Given the description of an element on the screen output the (x, y) to click on. 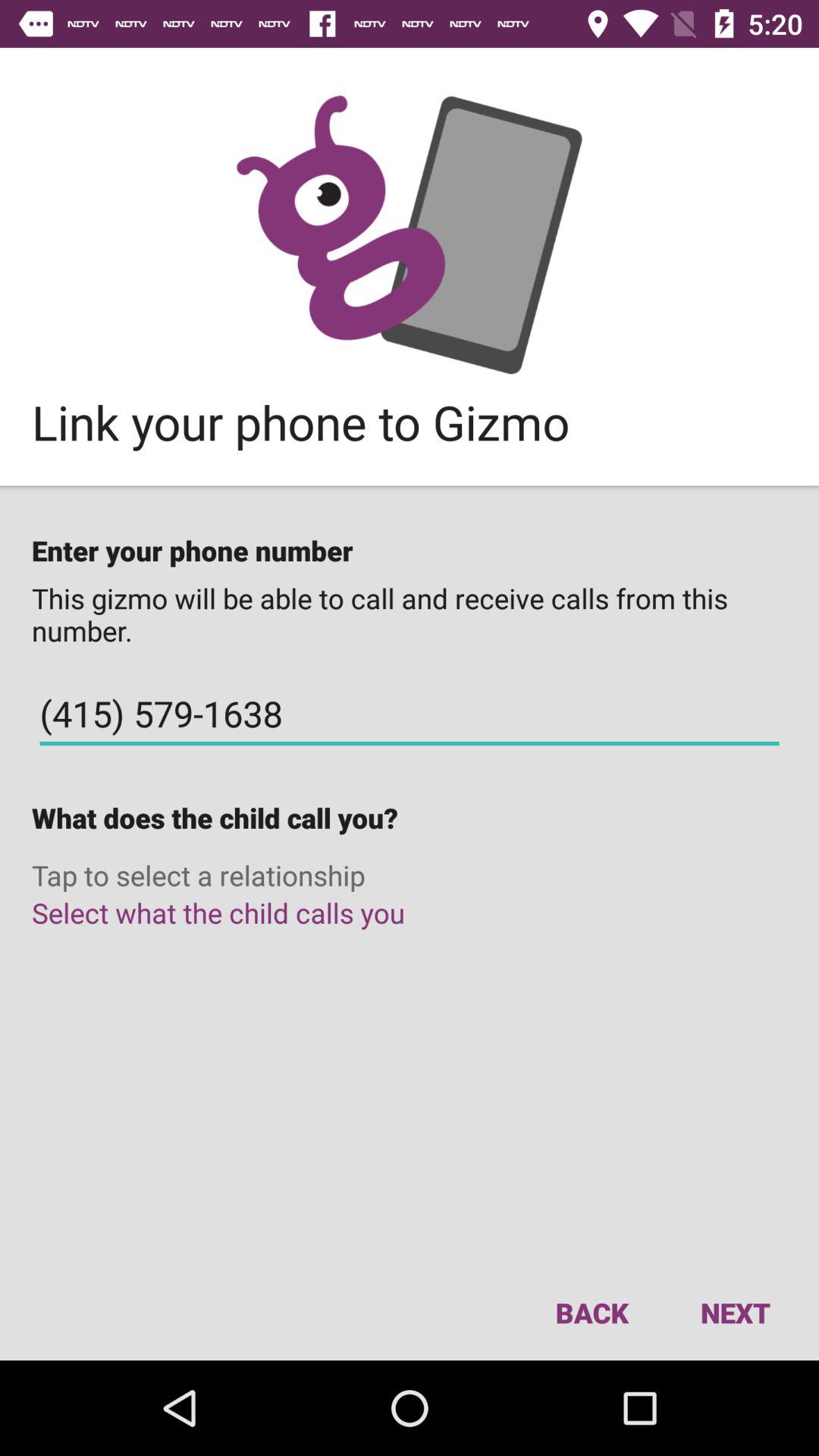
tap the icon above the what does the item (409, 714)
